Given the description of an element on the screen output the (x, y) to click on. 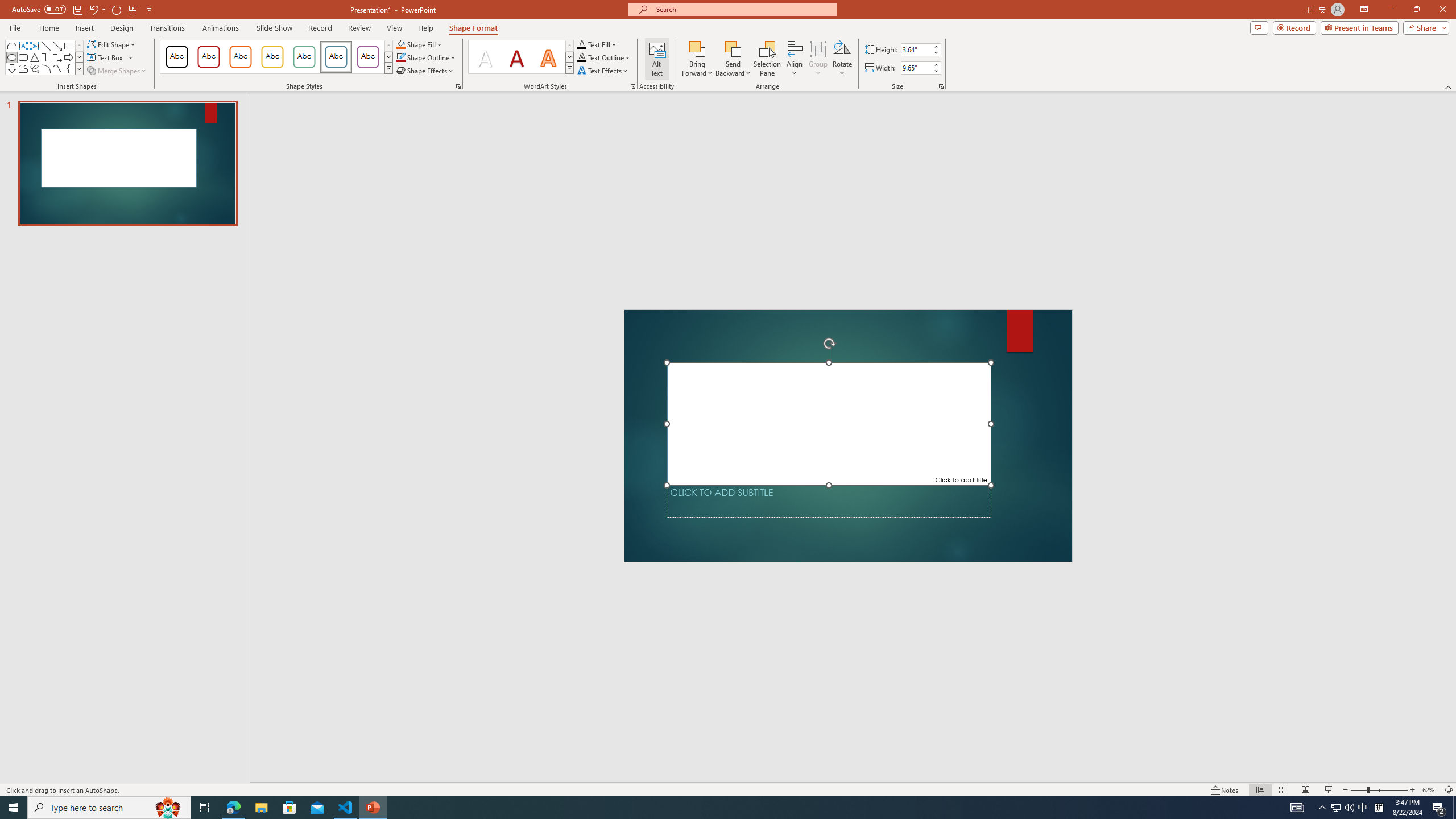
Line (46, 45)
Bring Forward (697, 48)
Connector: Elbow (46, 57)
Format Object... (458, 85)
Group (817, 58)
Send Backward (733, 48)
AutomationID: TextStylesGallery (521, 56)
